Given the description of an element on the screen output the (x, y) to click on. 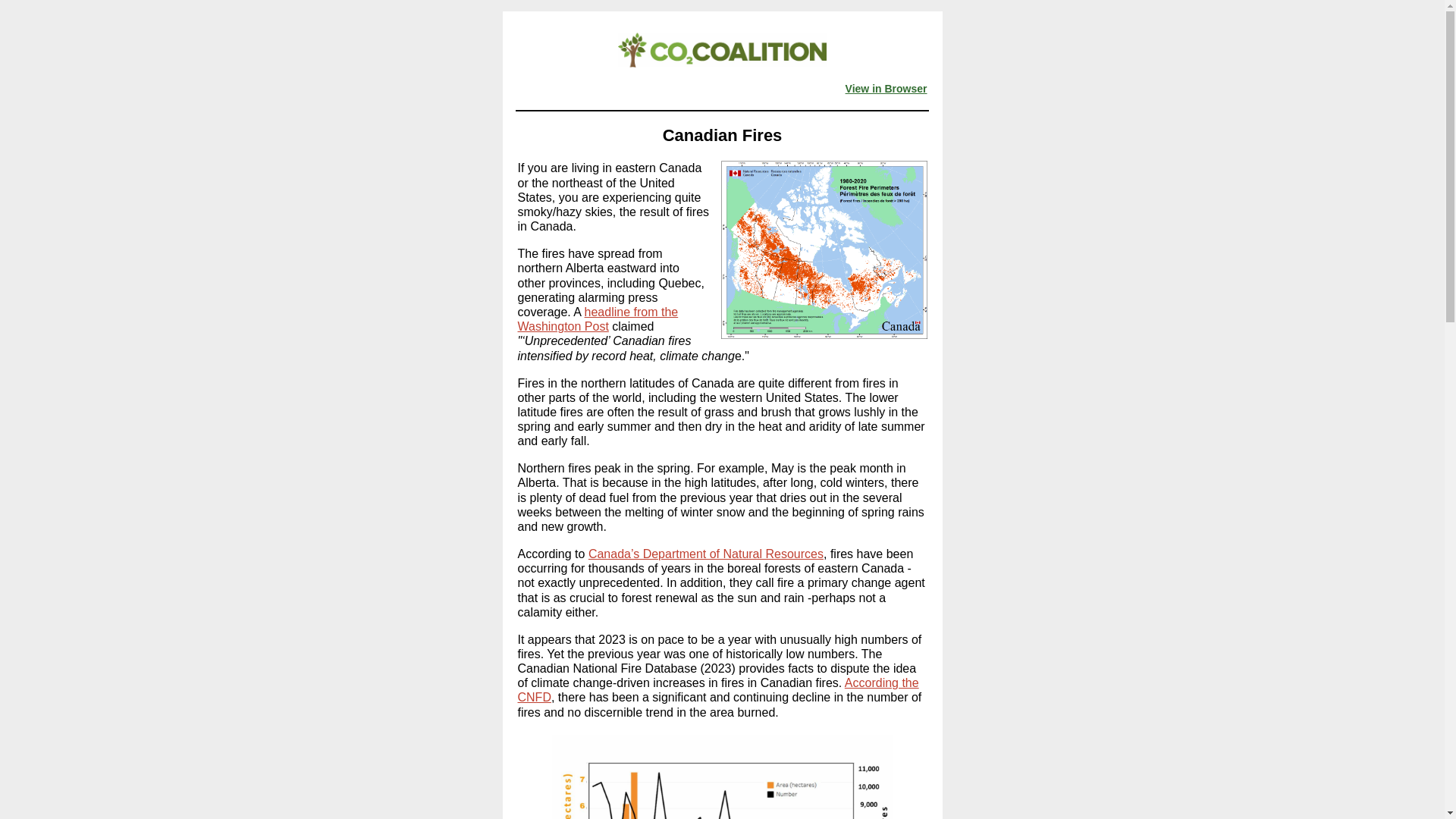
View in Browser (886, 88)
headline from the Washington Post (597, 318)
According the CNFD (717, 689)
